Given the description of an element on the screen output the (x, y) to click on. 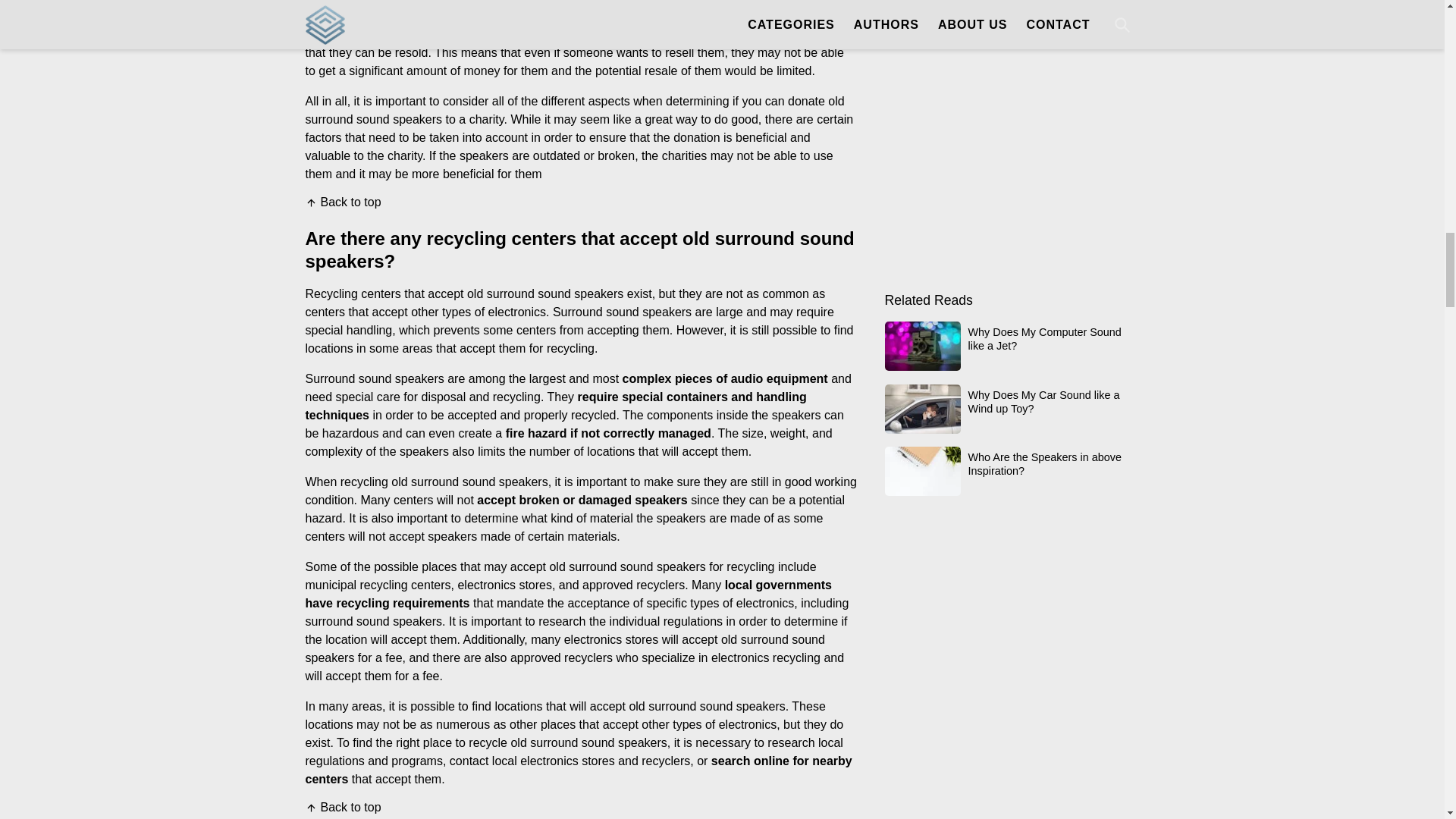
Back to top (342, 202)
Back to top (342, 807)
Why Does My Car Sound like a Wind up Toy? (1010, 409)
Why Does My Computer Sound like a Jet? (1010, 346)
